Given the description of an element on the screen output the (x, y) to click on. 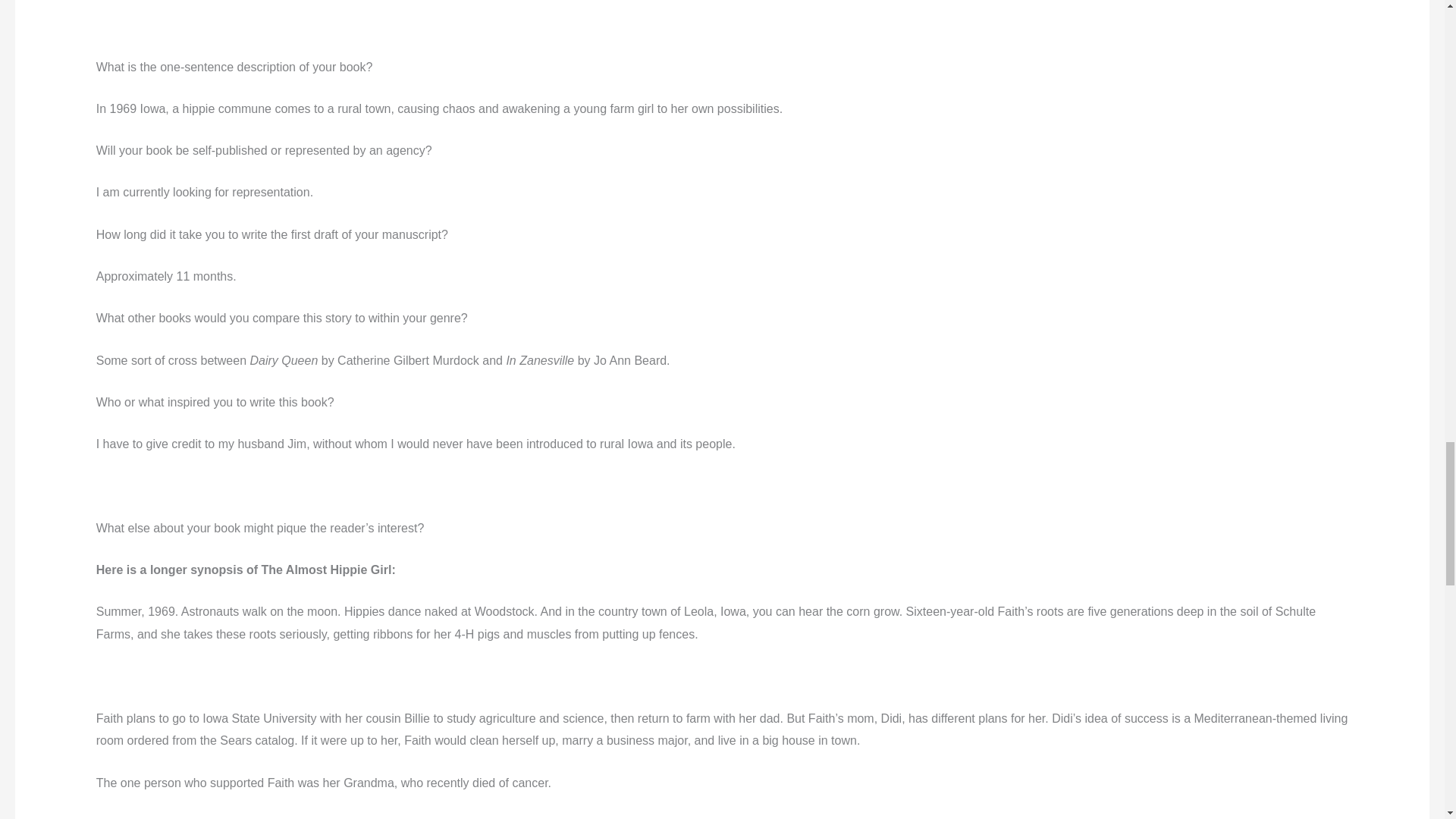
AnnaSophiaRobb (133, 18)
